Given the description of an element on the screen output the (x, y) to click on. 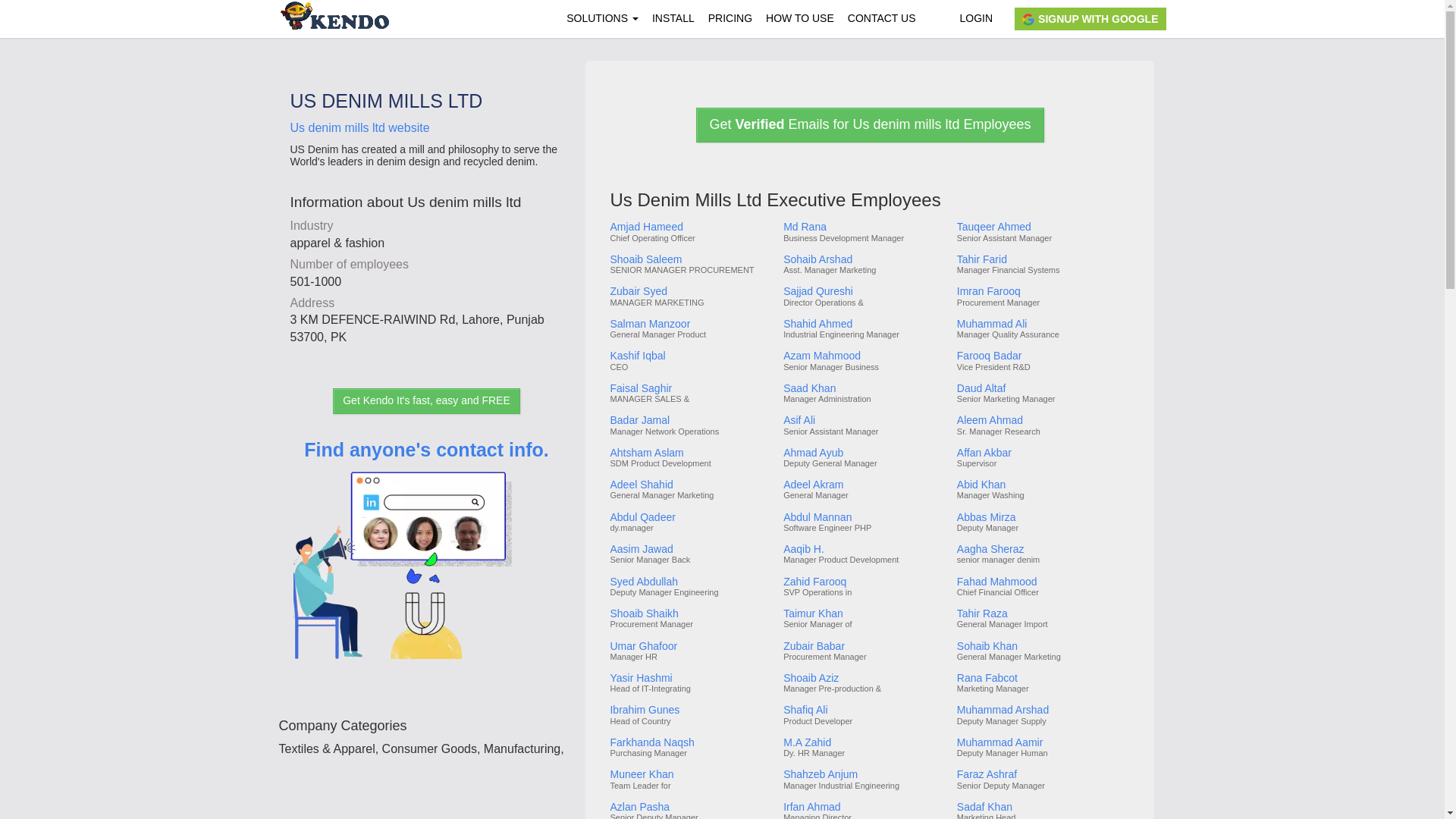
Kashif Iqbal (690, 355)
LOGIN (975, 18)
INSTALL (673, 18)
Faisal Saghir (690, 388)
CONTACT US (882, 18)
HOW TO USE (799, 18)
Daud Altaf (1041, 388)
Get Verified Emails for Us denim mills ltd Employees (869, 124)
Sohaib Arshad (863, 259)
Saad Khan (863, 388)
